Given the description of an element on the screen output the (x, y) to click on. 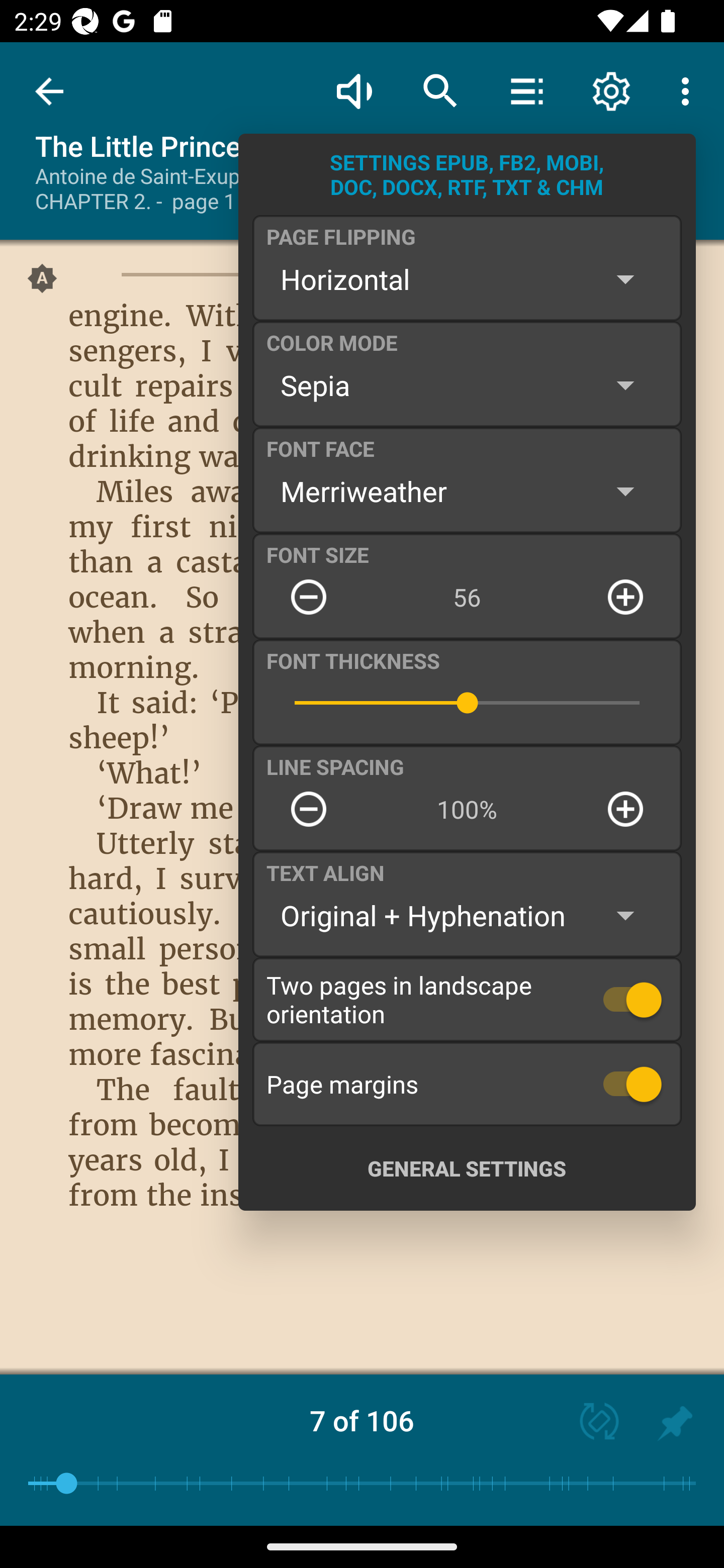
Horizontal (466, 278)
Sepia (466, 384)
Merriweather (466, 490)
Original + Hyphenation (466, 915)
Two pages in landscape orientation (467, 999)
Page margins (467, 1083)
GENERAL SETTINGS (466, 1167)
